Given the description of an element on the screen output the (x, y) to click on. 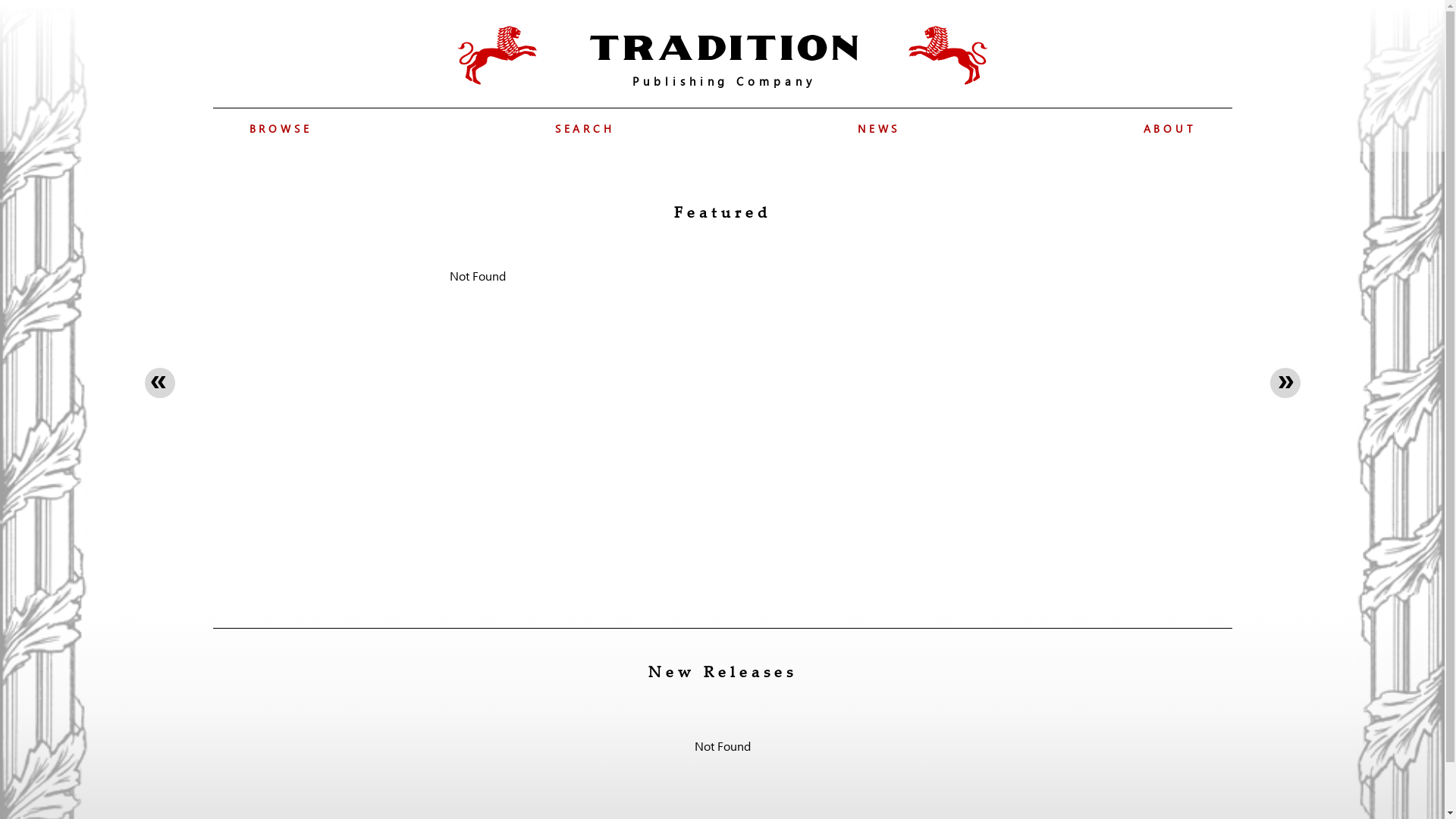
BROWSE Element type: text (279, 128)
ABOUT Element type: text (1169, 128)
SEARCH Element type: text (585, 128)
NEWS Element type: text (878, 128)
